Given the description of an element on the screen output the (x, y) to click on. 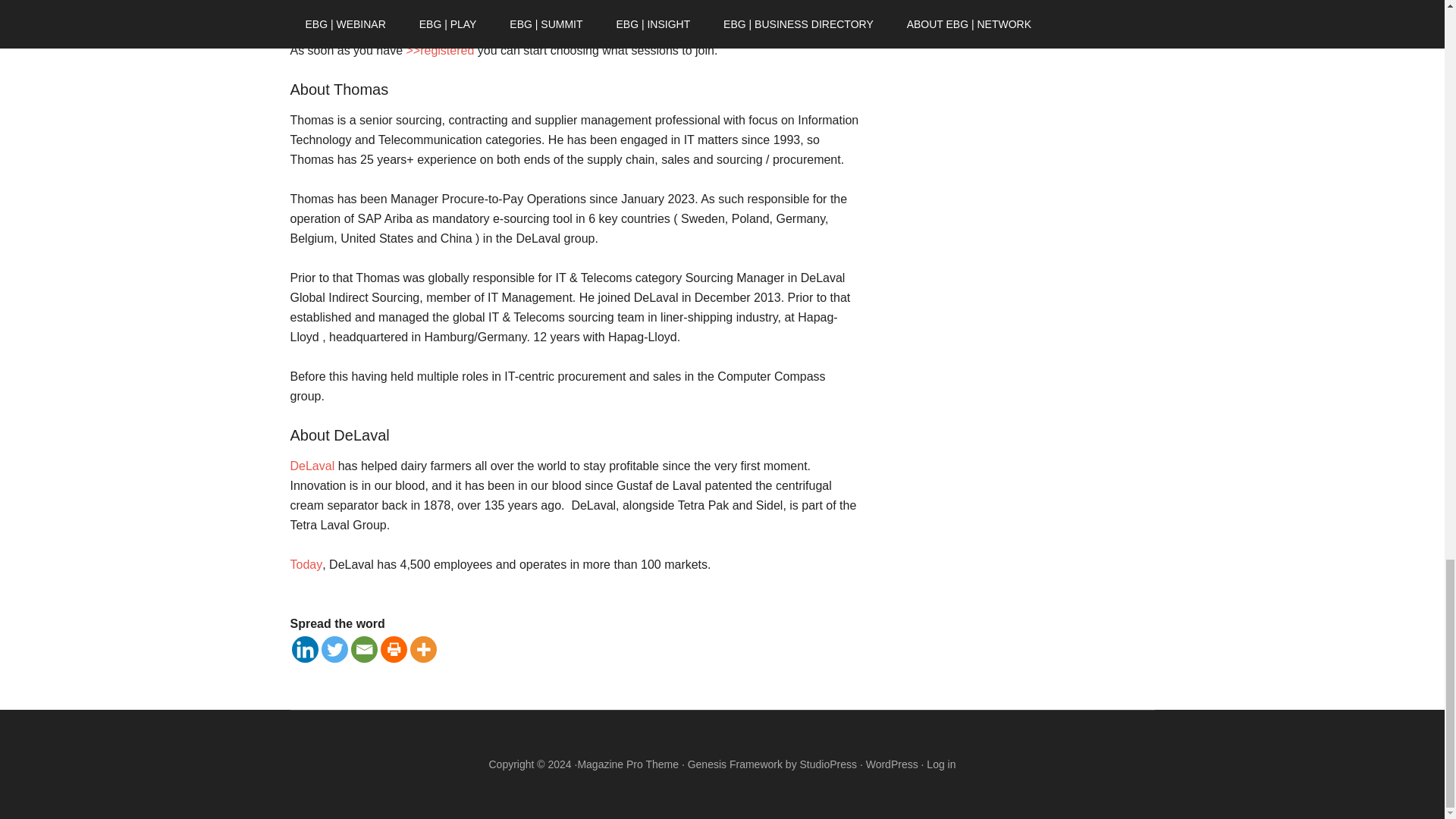
More (422, 649)
Genesis Framework (735, 764)
StudioPress (828, 764)
Linkedin (304, 649)
Today (305, 563)
Twitter (334, 649)
Log in (940, 764)
WordPress (892, 764)
Print (393, 649)
DeLaval (311, 465)
Email (363, 649)
Magazine Pro Theme (627, 764)
